Given the description of an element on the screen output the (x, y) to click on. 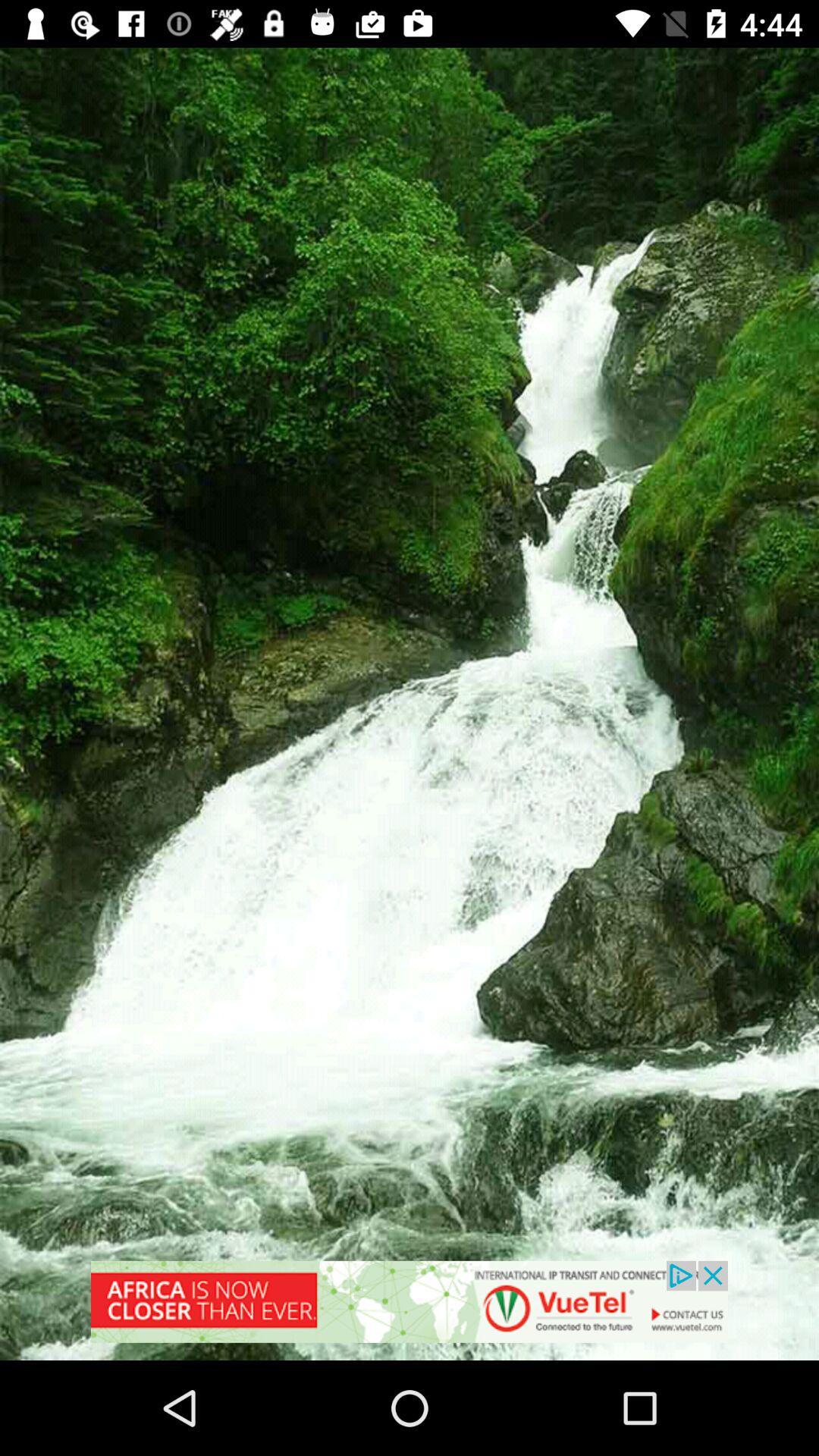
view advertisement (409, 1310)
